Given the description of an element on the screen output the (x, y) to click on. 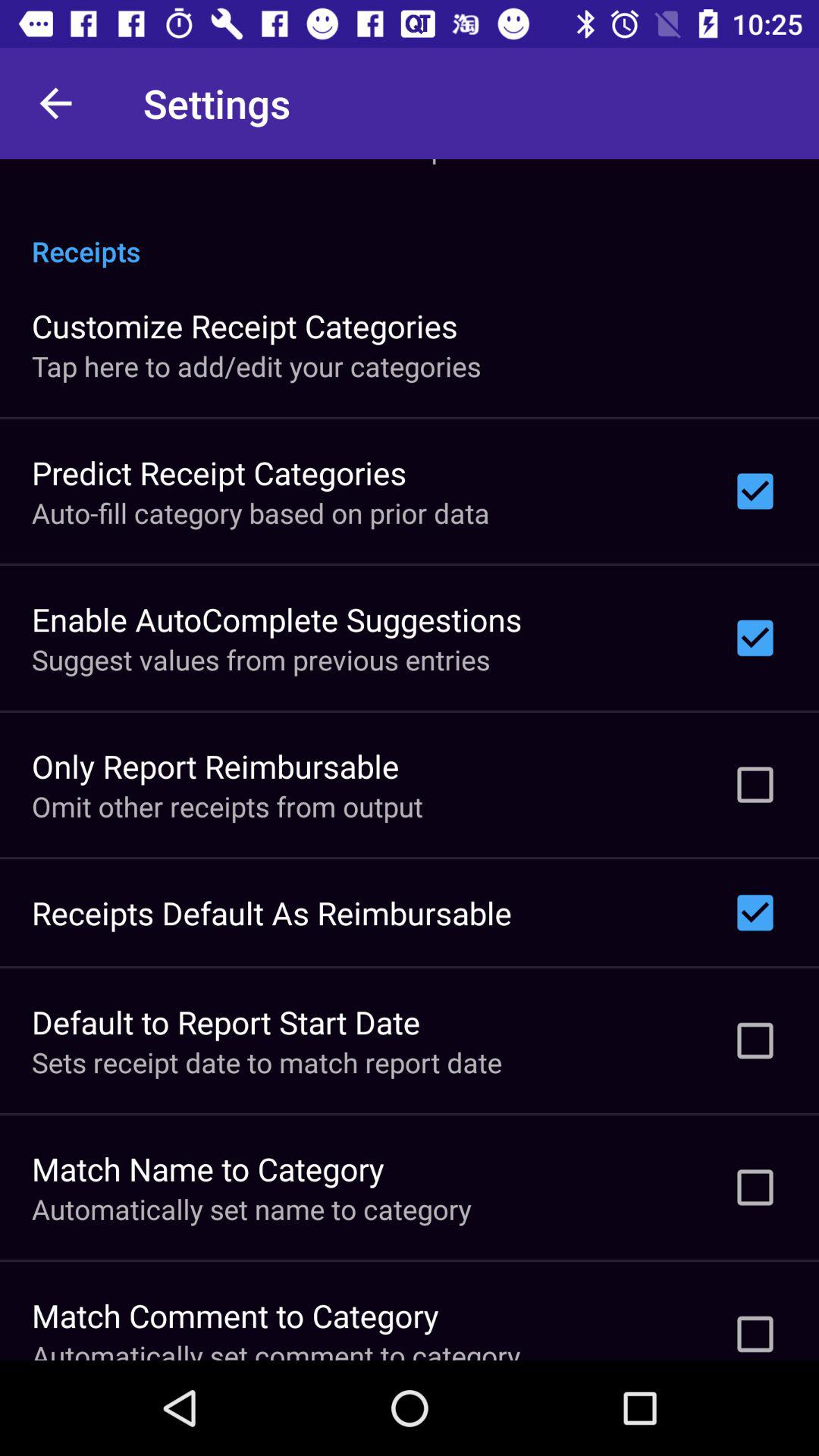
press the omit other receipts item (227, 806)
